Given the description of an element on the screen output the (x, y) to click on. 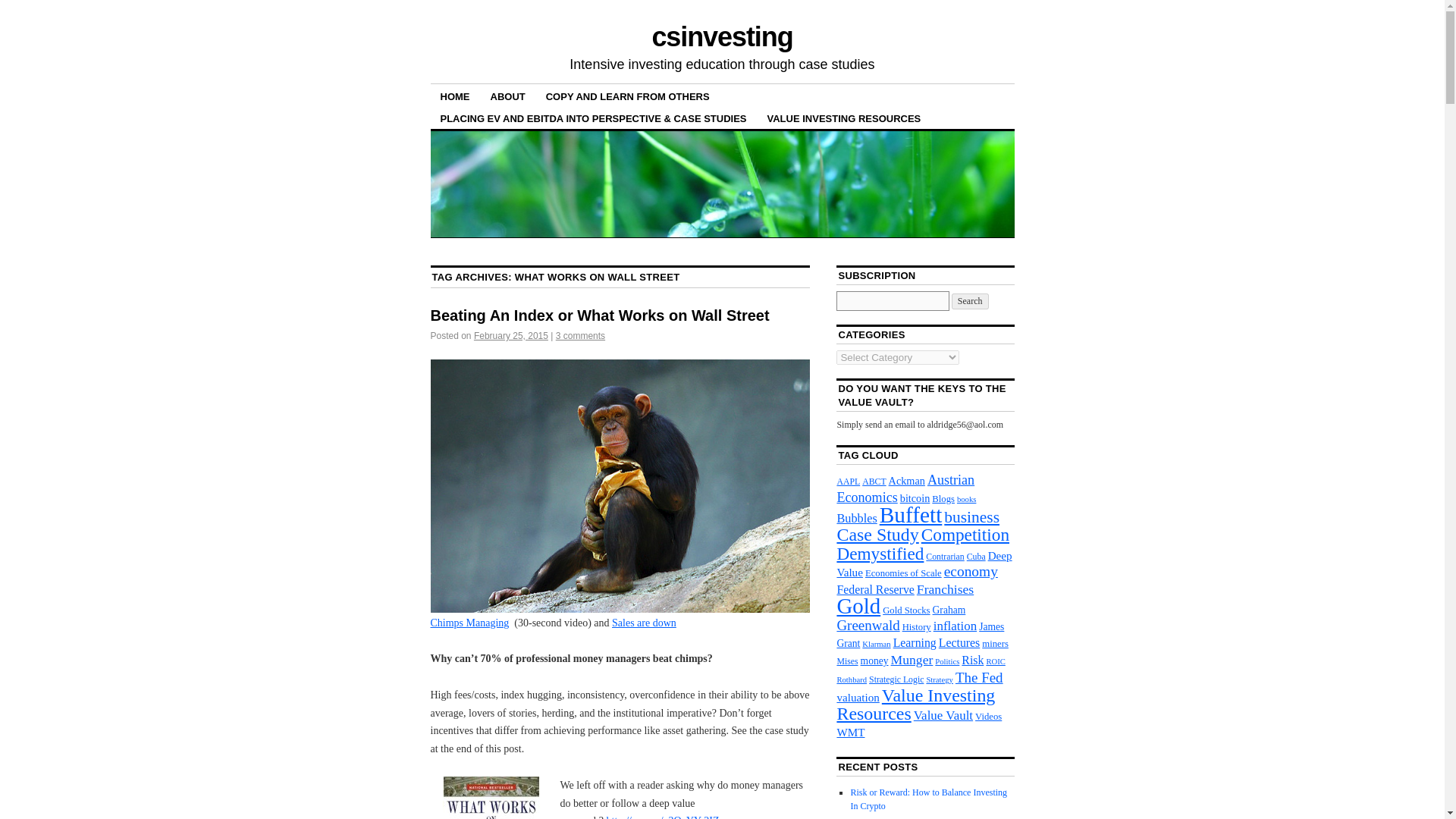
3 comments (580, 335)
Blogs (943, 498)
Cuba (975, 556)
AAPL (847, 480)
COPY AND LEARN FROM OTHERS (627, 96)
Buffett (910, 514)
HOME (455, 96)
csinvesting (721, 36)
February 25, 2015 (511, 335)
Chimps Managing (469, 622)
